Given the description of an element on the screen output the (x, y) to click on. 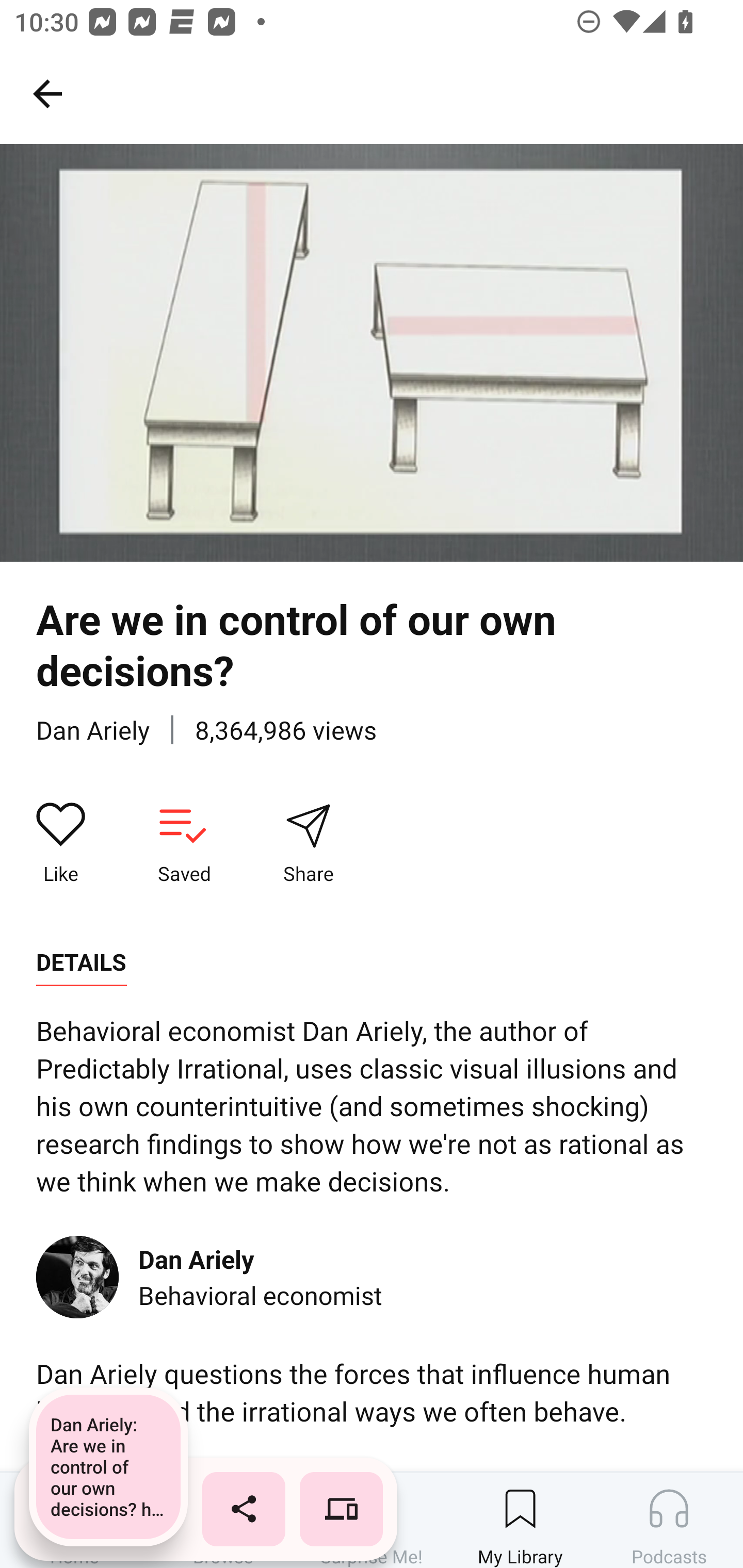
My Library, back (47, 92)
Like (60, 843)
Saved (183, 843)
Share (308, 843)
DETAILS (80, 962)
My Library (519, 1520)
Podcasts (668, 1520)
